Given the description of an element on the screen output the (x, y) to click on. 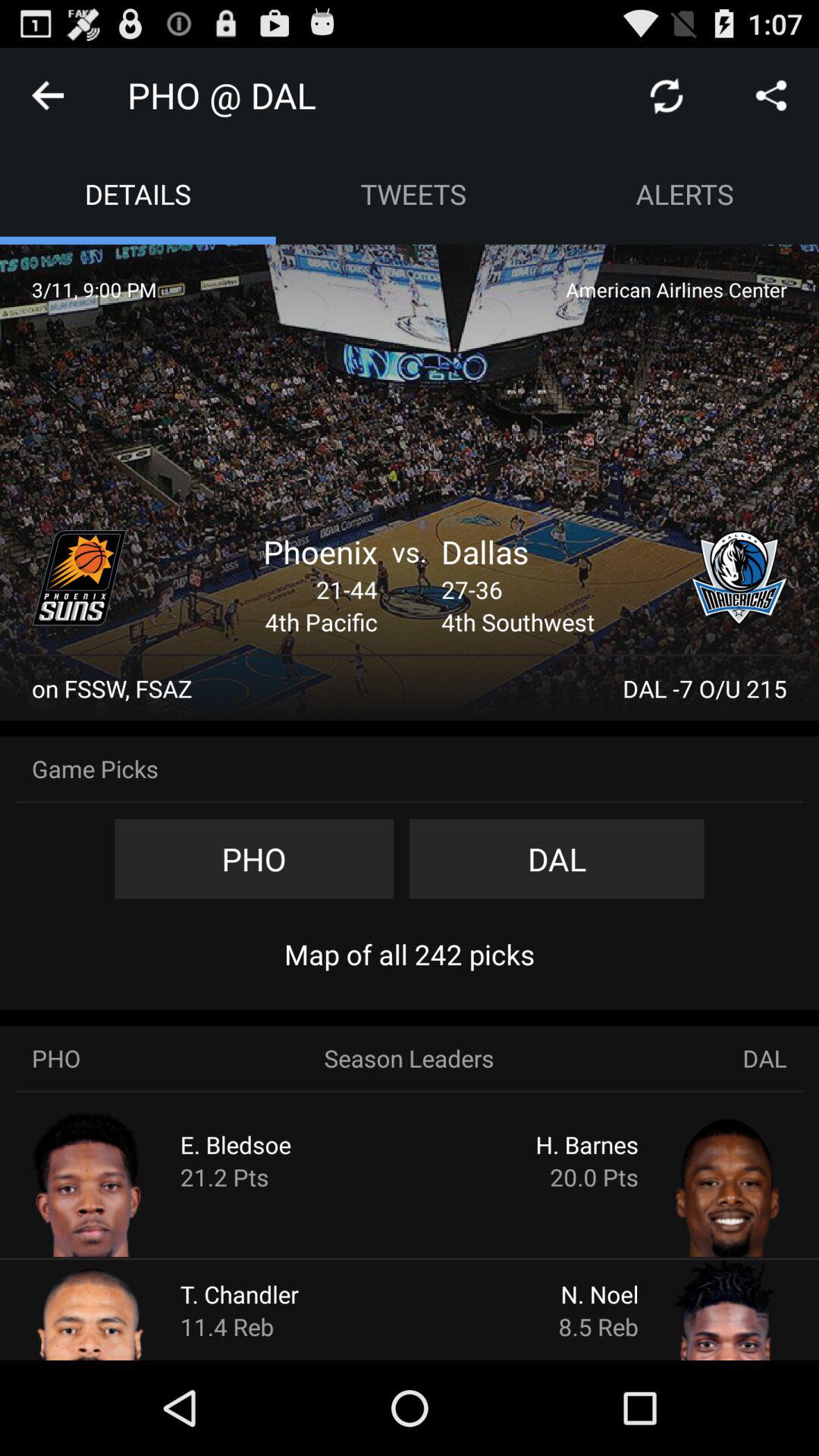
return to previous screen (47, 95)
